Given the description of an element on the screen output the (x, y) to click on. 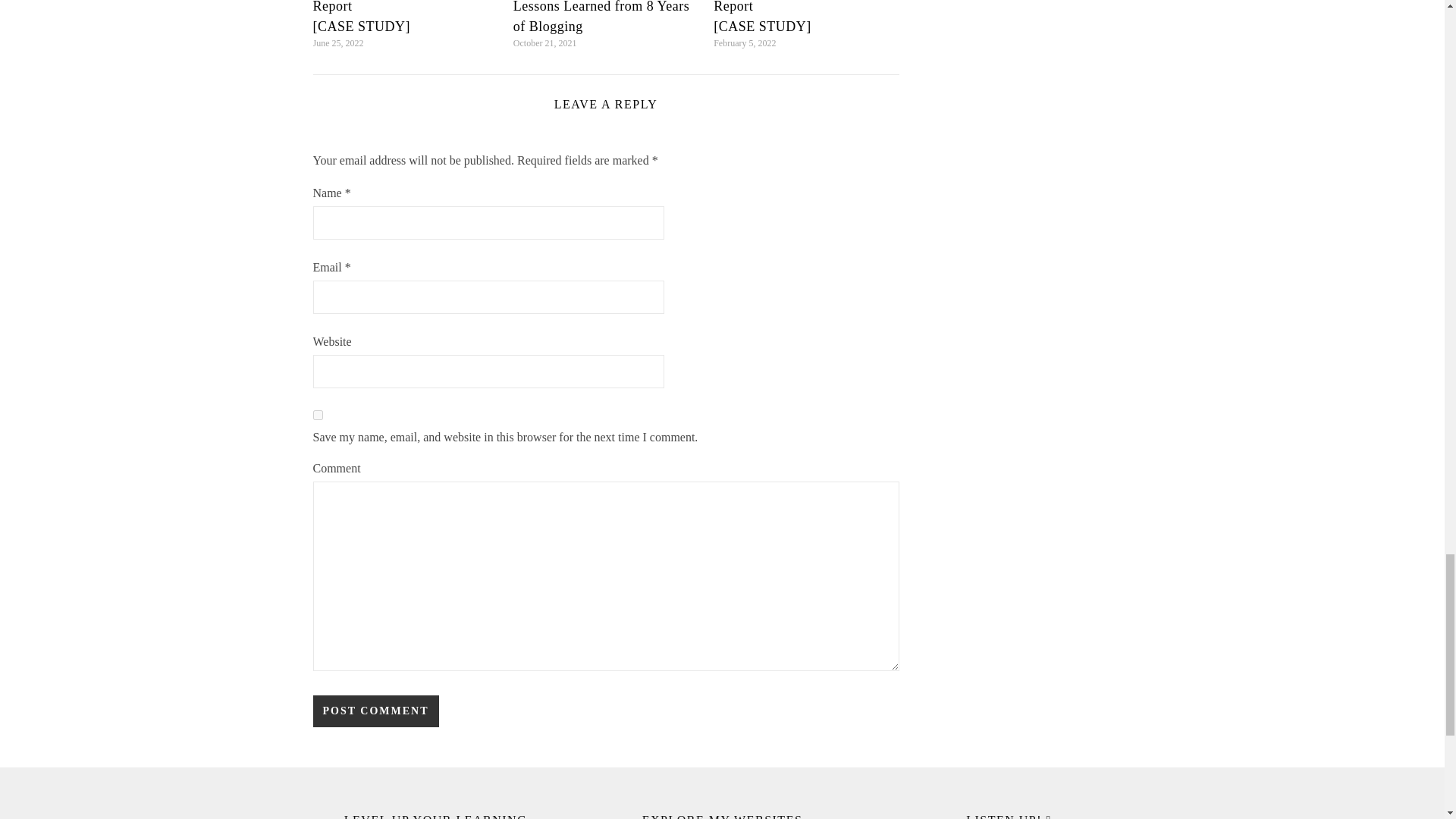
yes (317, 415)
Post Comment (375, 711)
